Given the description of an element on the screen output the (x, y) to click on. 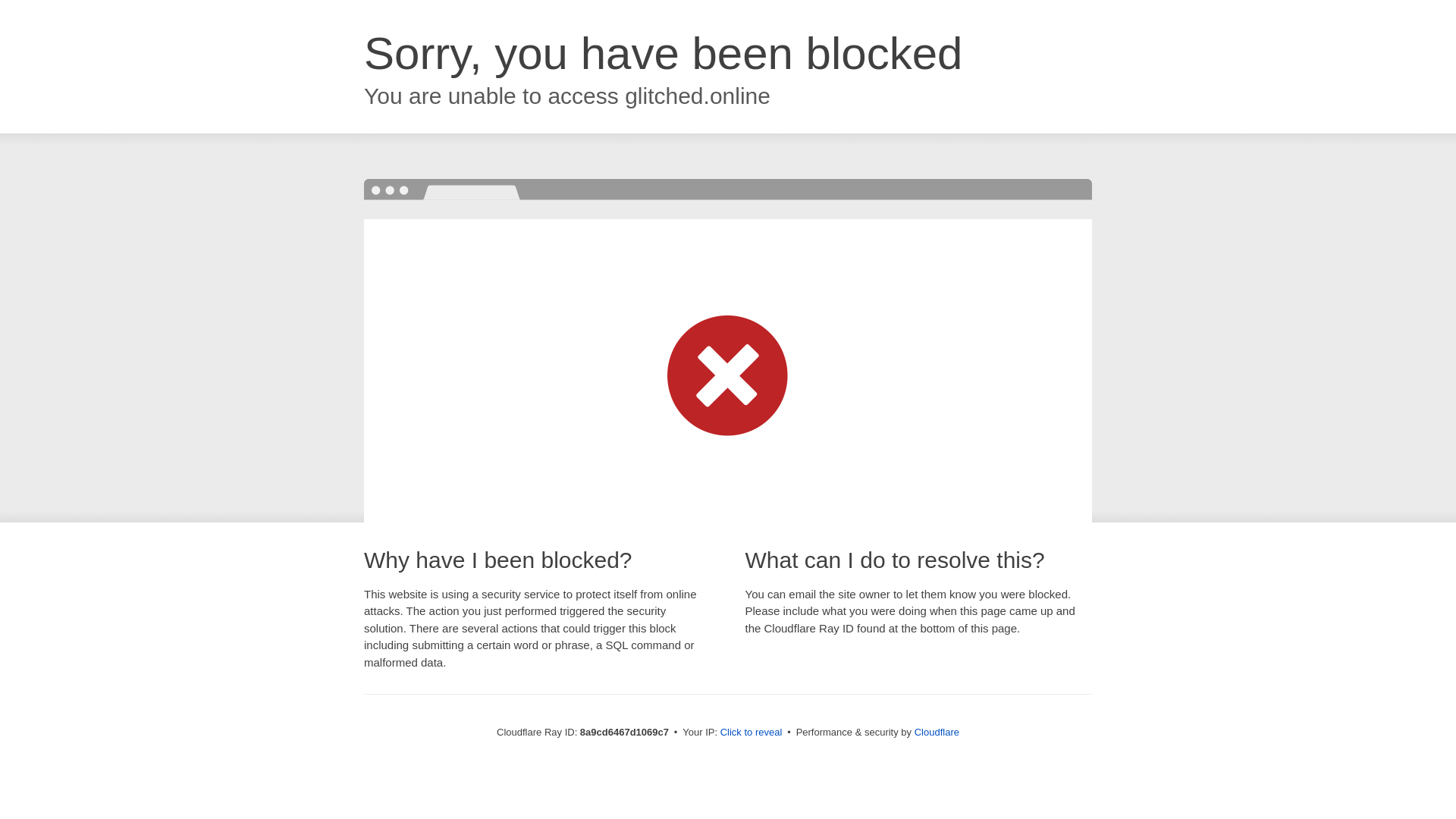
Click to reveal (751, 732)
Cloudflare (936, 731)
